Given the description of an element on the screen output the (x, y) to click on. 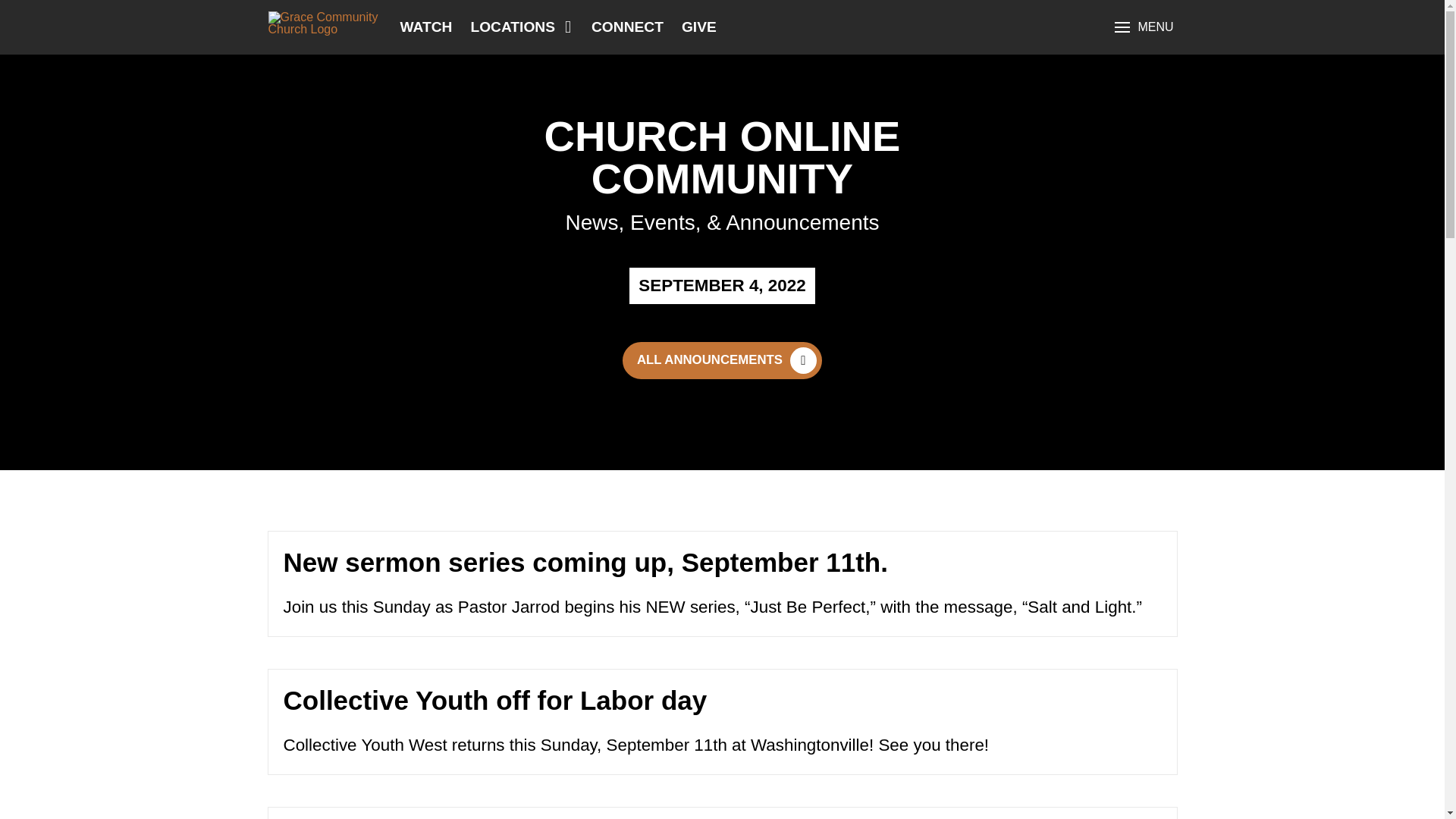
CONNECT (627, 26)
GIVE (699, 26)
WATCH (425, 26)
ALL ANNOUNCEMENTS (722, 360)
